Given the description of an element on the screen output the (x, y) to click on. 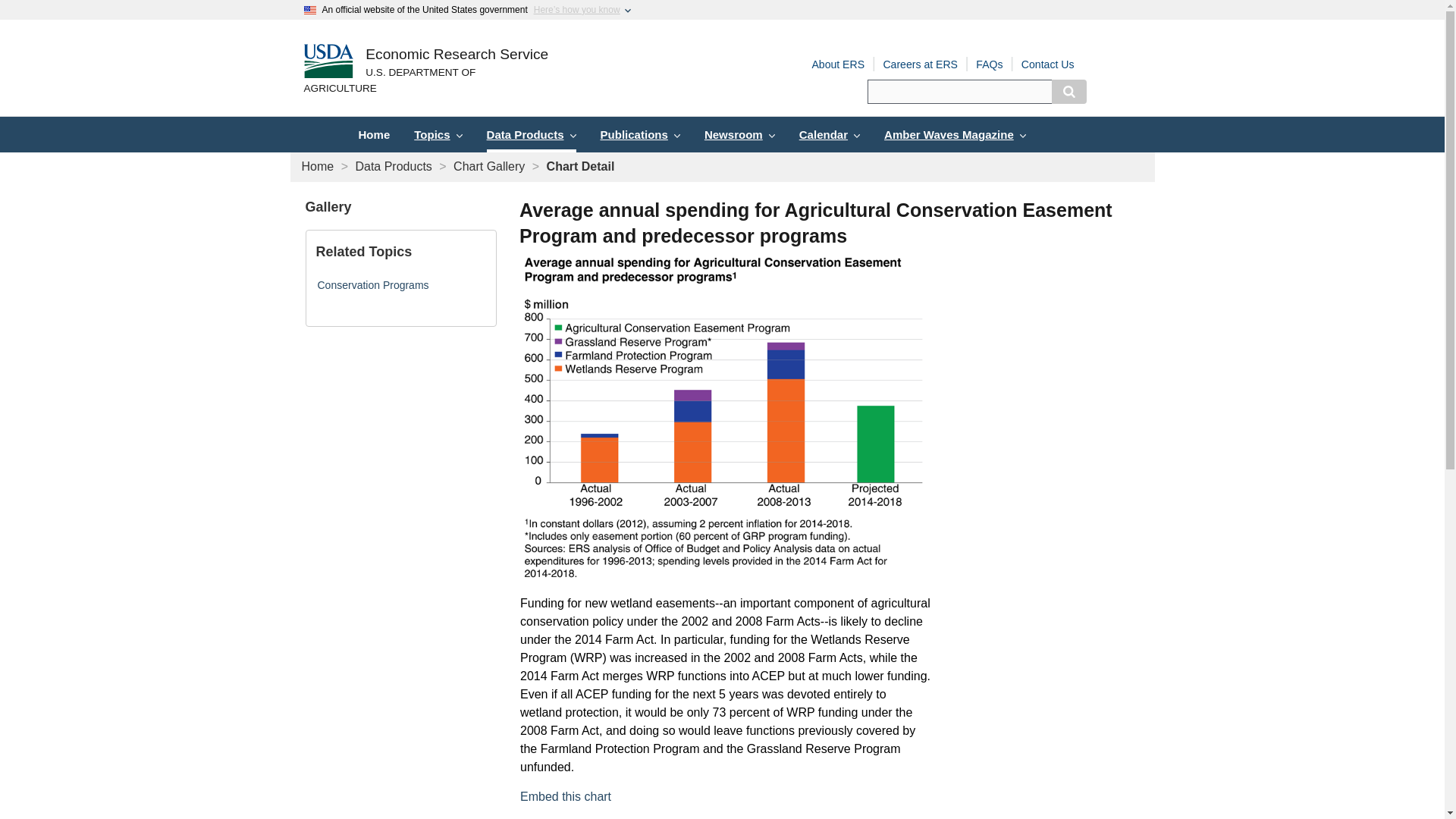
Conservation Programs (372, 285)
USDA.gov (425, 81)
Contact Us (1048, 63)
Home (317, 165)
Calendar (829, 134)
Publications (640, 134)
Careers at ERS (920, 63)
U.S. DEPARTMENT OF AGRICULTURE (425, 81)
Chart Gallery (488, 165)
